Given the description of an element on the screen output the (x, y) to click on. 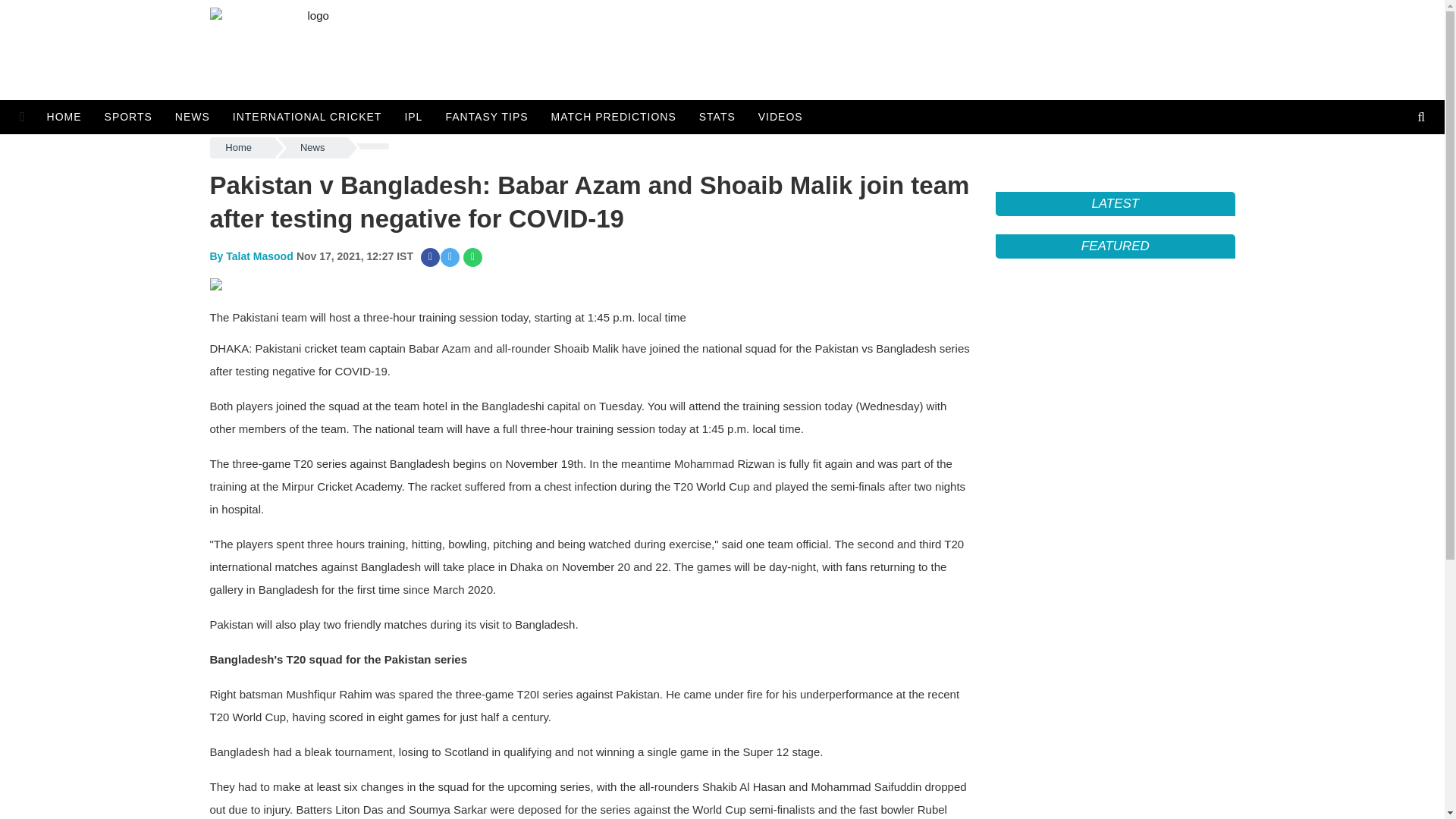
VIDEOS (779, 116)
NEWS (192, 116)
LATEST (1114, 202)
Home (241, 147)
FEATURED (1114, 246)
FANTASY TIPS (485, 116)
HOME (68, 116)
IPL (413, 116)
MATCH PREDICTIONS (613, 116)
SPORTS (128, 116)
News (312, 147)
INTERNATIONAL CRICKET (307, 116)
STATS (716, 116)
